Given the description of an element on the screen output the (x, y) to click on. 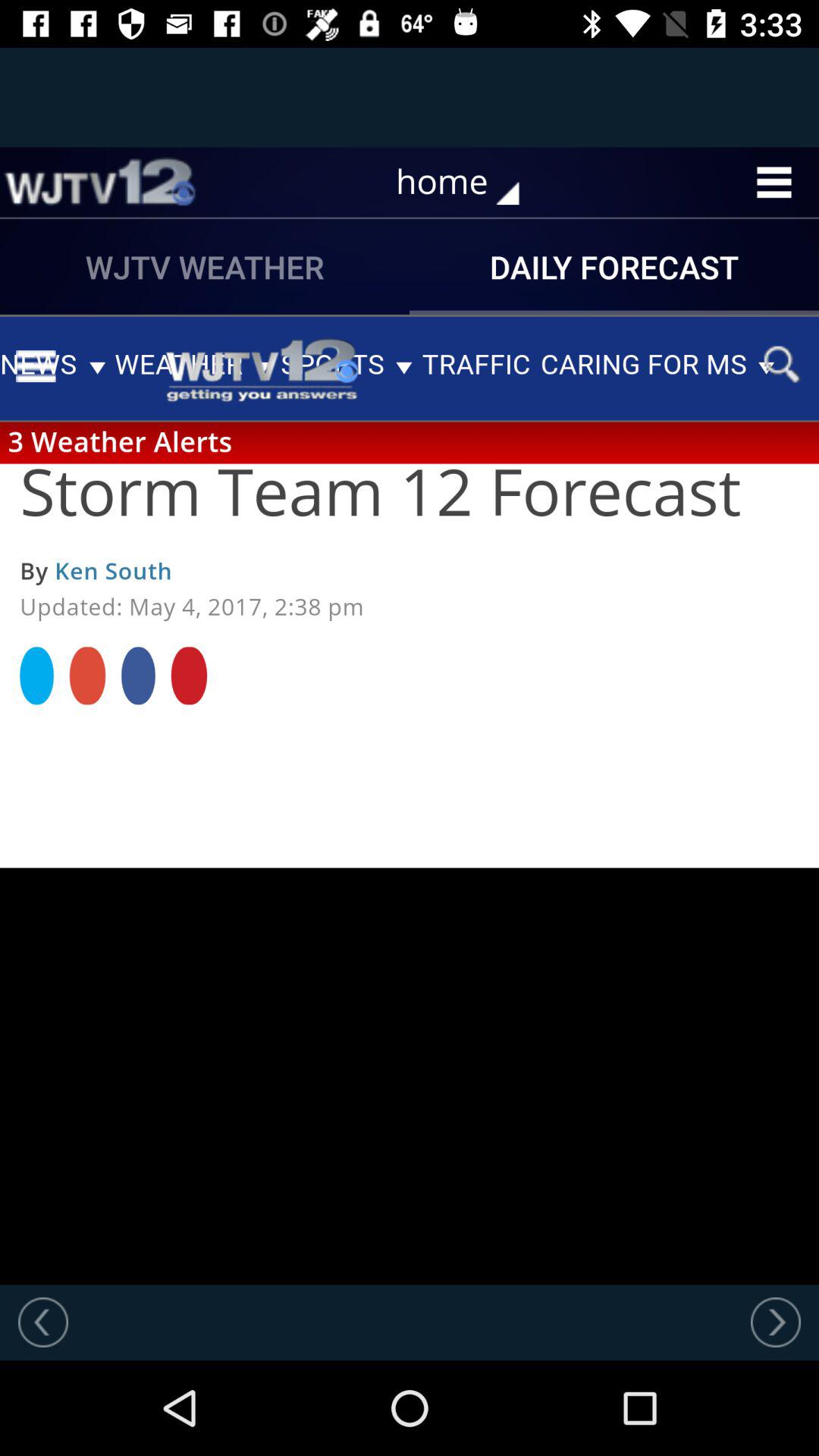
go forward (775, 1322)
